Given the description of an element on the screen output the (x, y) to click on. 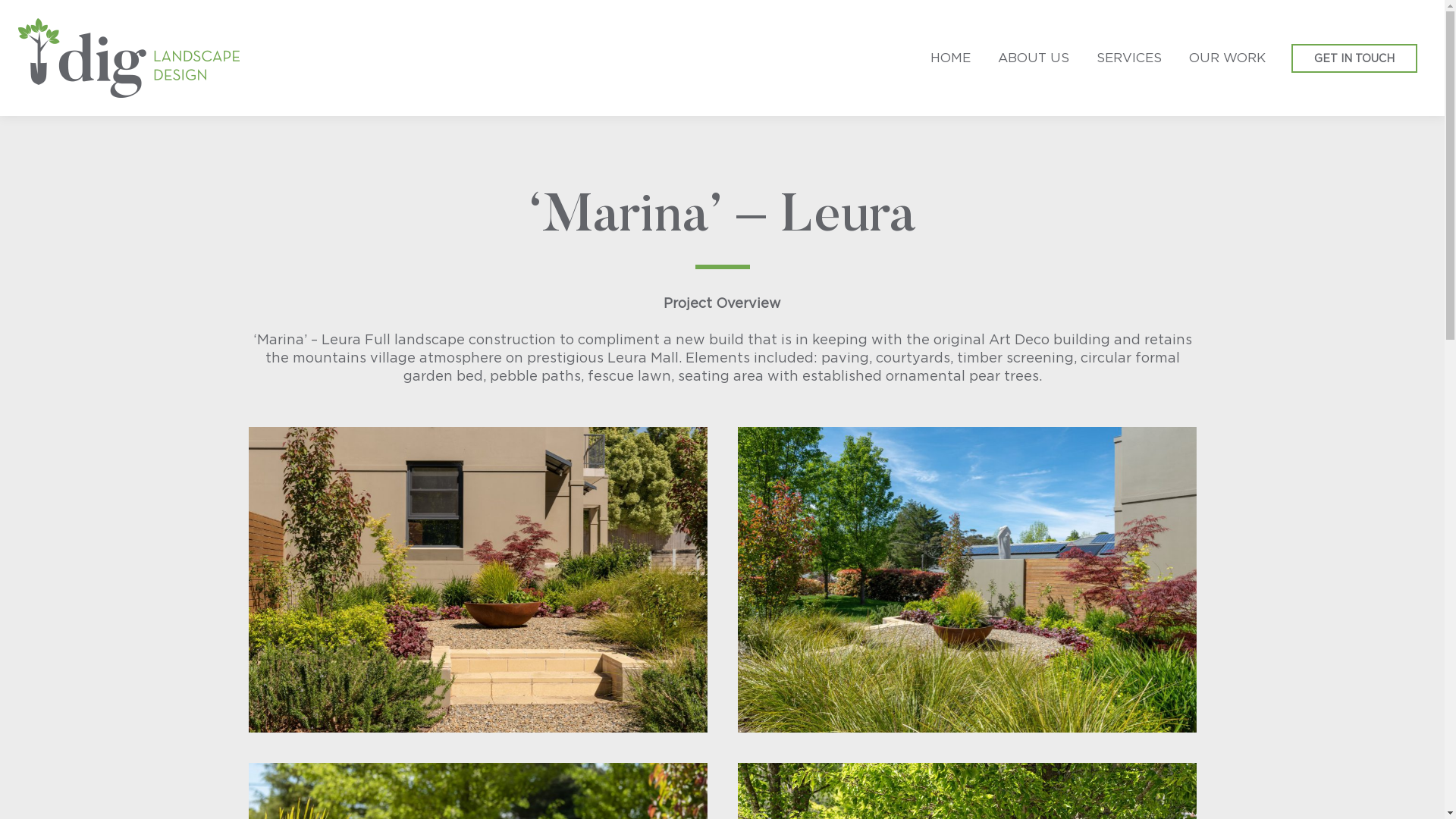
ABOUT US Element type: text (1033, 57)
marina-leural-03 Element type: hover (966, 579)
SERVICES Element type: text (1128, 57)
OUR WORK Element type: text (1227, 57)
HOME Element type: text (950, 57)
GET IN TOUCH Element type: text (1354, 57)
marina-leural-01 Element type: hover (477, 579)
